Given the description of an element on the screen output the (x, y) to click on. 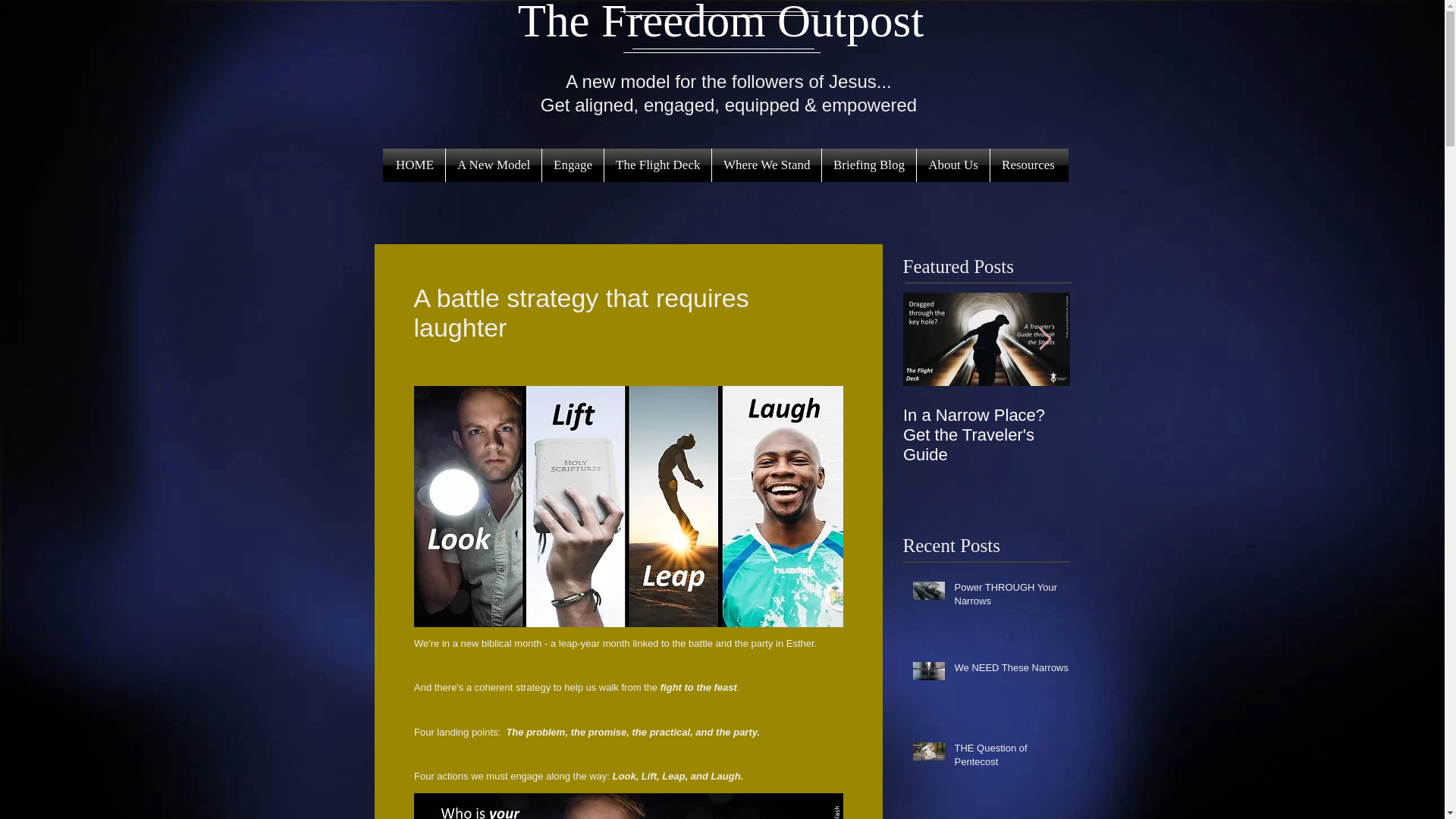
HOME (414, 164)
Engage (572, 164)
About Us (953, 164)
Where We Stand (766, 164)
Resources (1027, 164)
Power THROUGH Your Narrows (1012, 597)
Briefing Blog (868, 164)
THE Question of Pentecost (1012, 758)
We NEED These Narrows (1012, 670)
The Gap and the "Missing" Work of Christ (1152, 435)
The Flight Deck (657, 164)
A New Model (493, 164)
In a Narrow Place? Get the Traveler's Guide (985, 435)
